Given the description of an element on the screen output the (x, y) to click on. 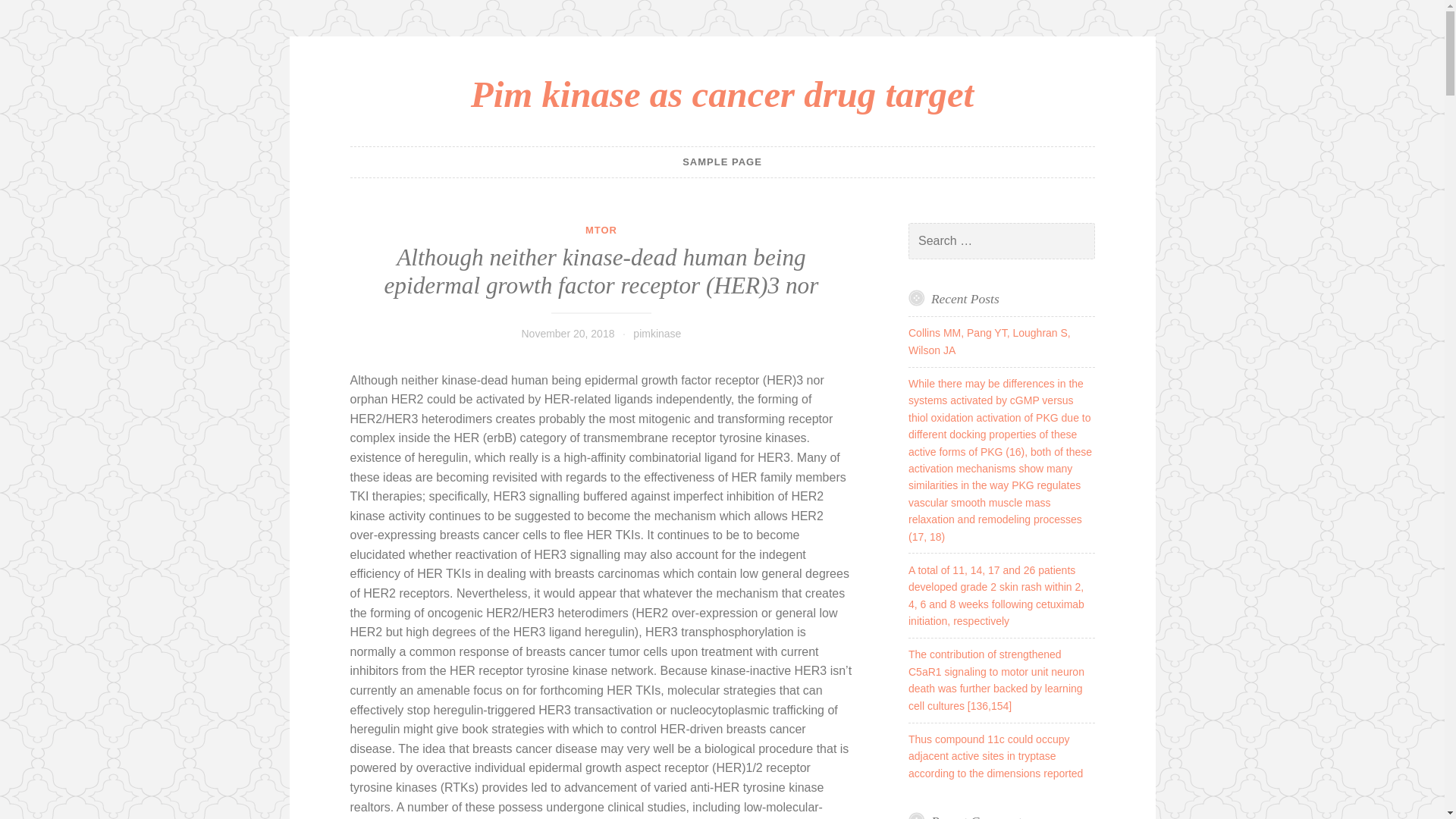
Collins MM, Pang YT, Loughran S, Wilson JA (989, 340)
November 20, 2018 (567, 333)
Search (33, 13)
MTOR (601, 229)
SAMPLE PAGE (721, 162)
Pim kinase as cancer drug target (722, 94)
pimkinase (657, 333)
